Given the description of an element on the screen output the (x, y) to click on. 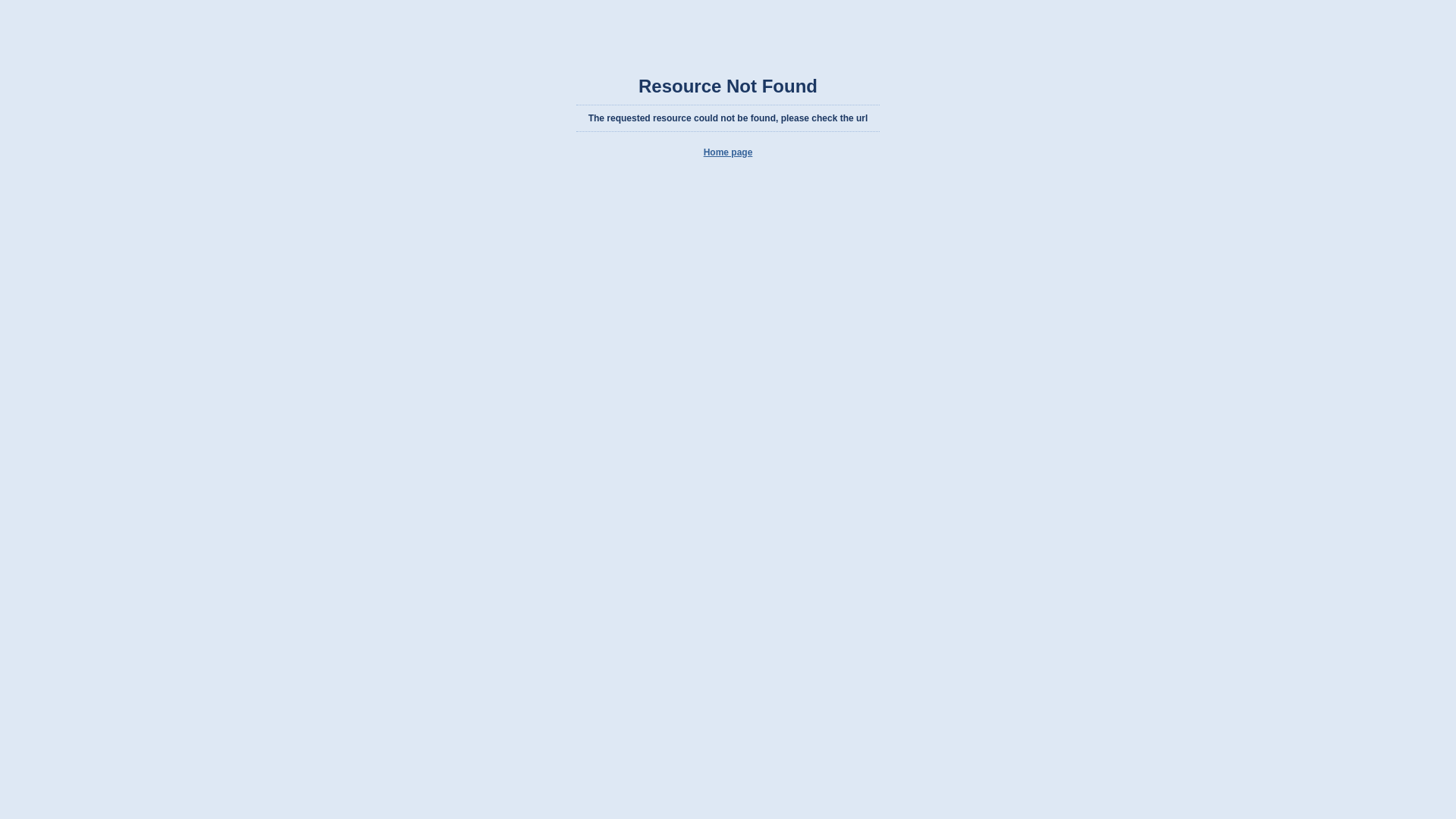
Home page Element type: text (728, 152)
